Given the description of an element on the screen output the (x, y) to click on. 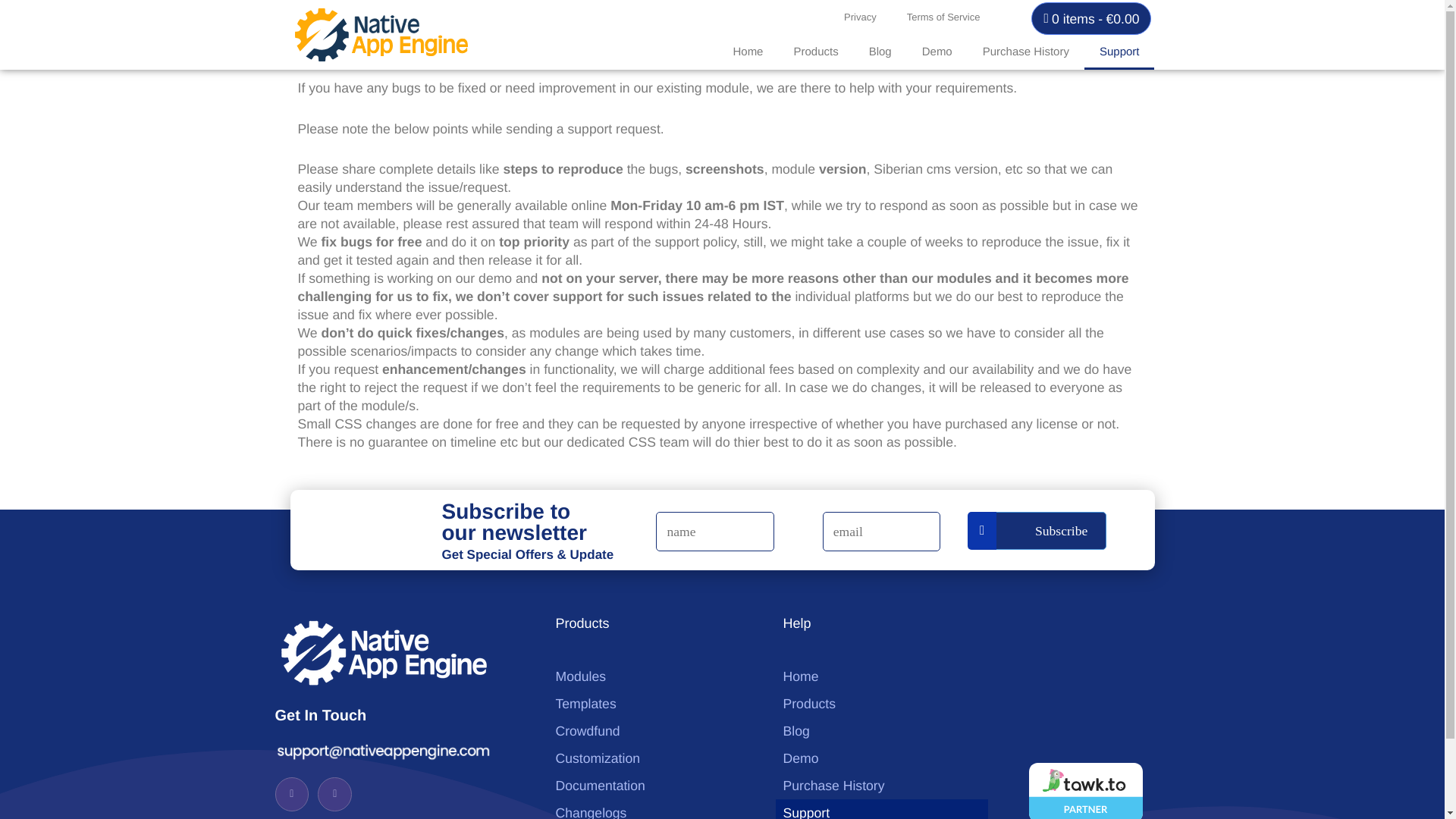
Crowdfund (653, 730)
View your shopping cart (1090, 18)
Templates (653, 703)
Terms of Service (943, 17)
Privacy (859, 17)
Demo (937, 52)
Documentation (653, 785)
Support (1119, 52)
Customization (653, 758)
Modules (653, 676)
